Given the description of an element on the screen output the (x, y) to click on. 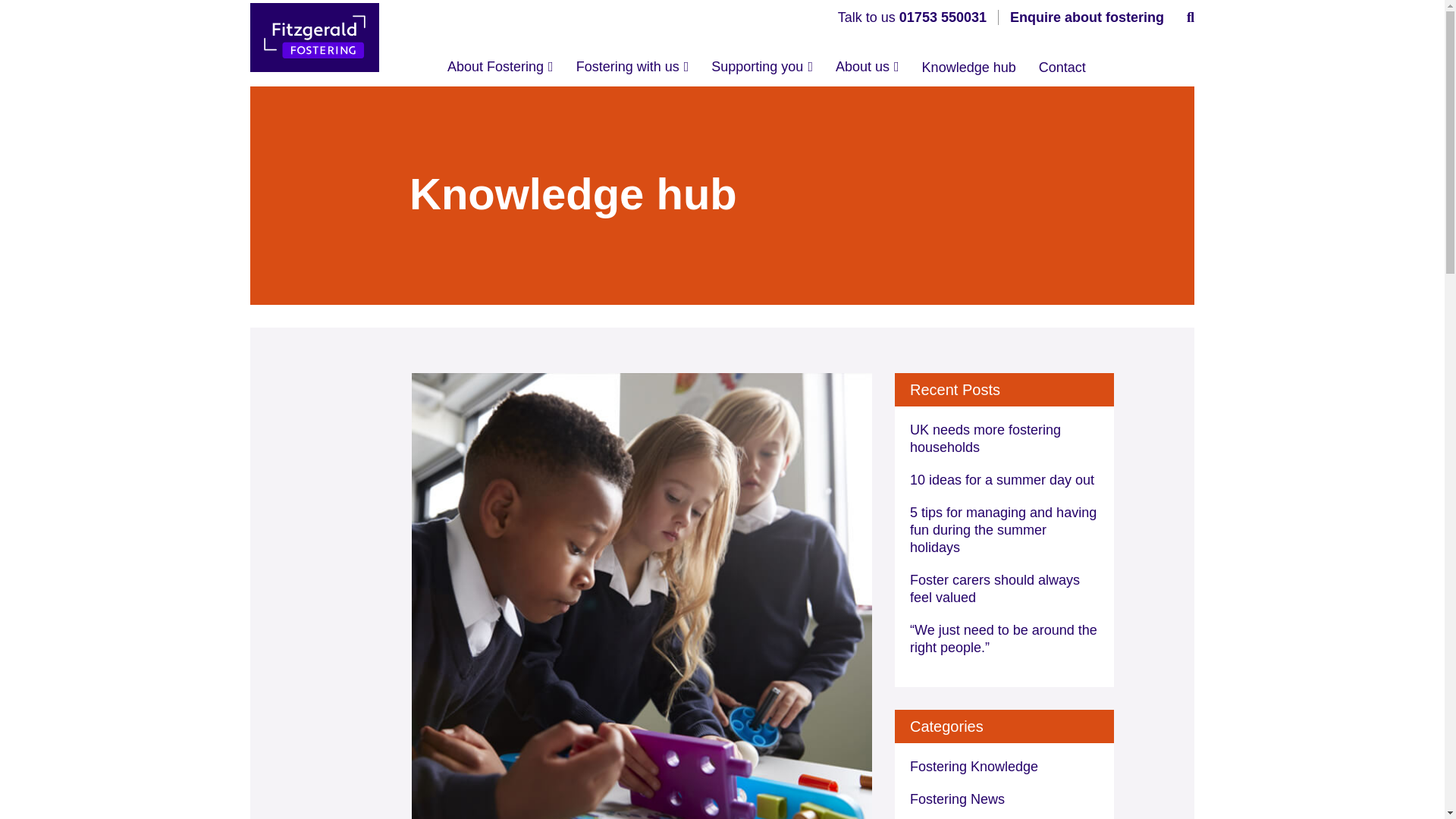
Foster carers should always feel valued (1004, 588)
Fostering News (1004, 799)
UK needs more fostering households (1004, 438)
About Fostering (499, 71)
Contact (1062, 71)
Fostering with us (632, 71)
Fostering Knowledge (1004, 766)
Supporting you (761, 71)
10 ideas for a summer day out (1004, 479)
Talk to us 01753 550031 (912, 17)
